Given the description of an element on the screen output the (x, y) to click on. 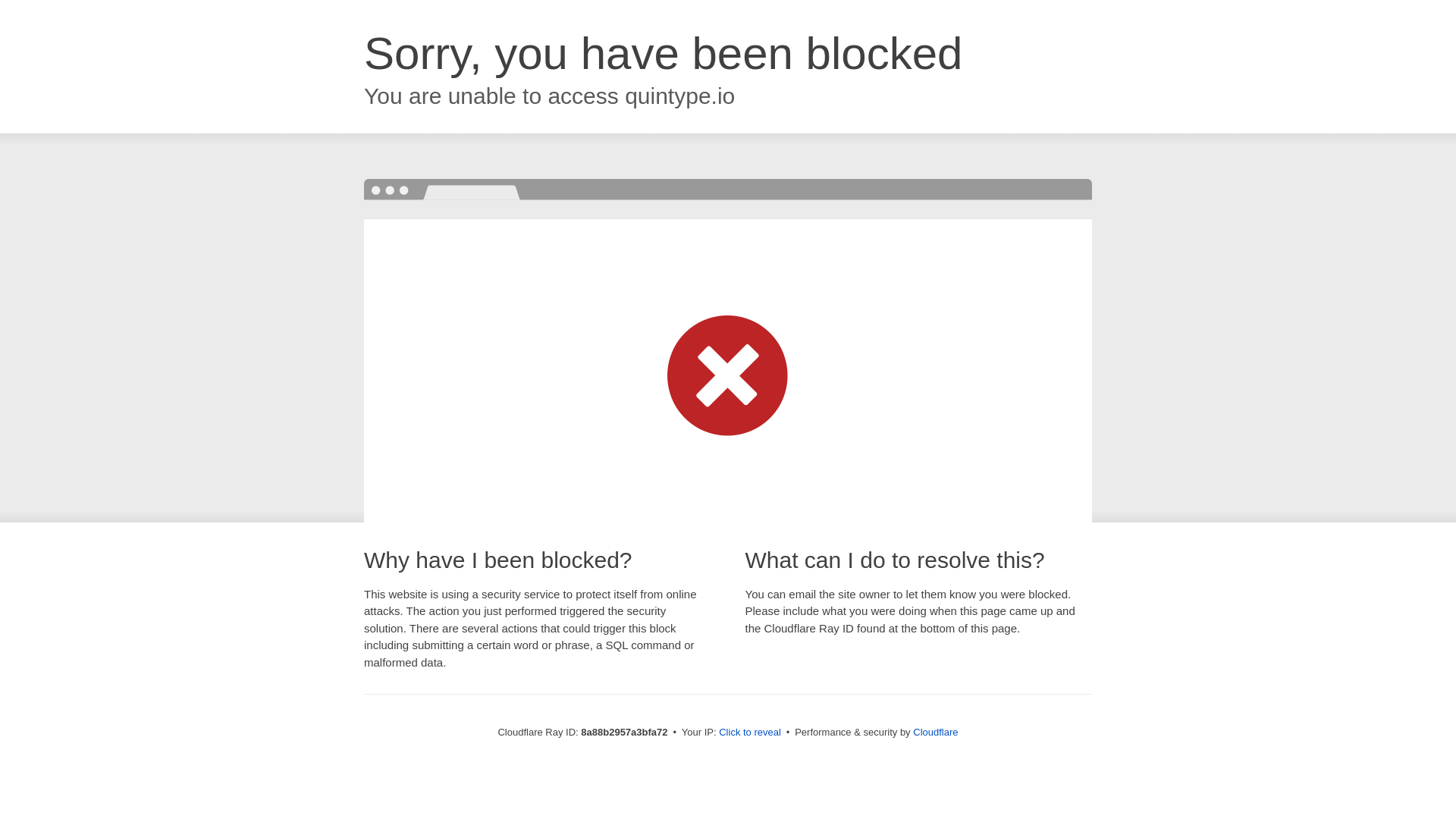
Cloudflare (935, 731)
Click to reveal (749, 732)
